Given the description of an element on the screen output the (x, y) to click on. 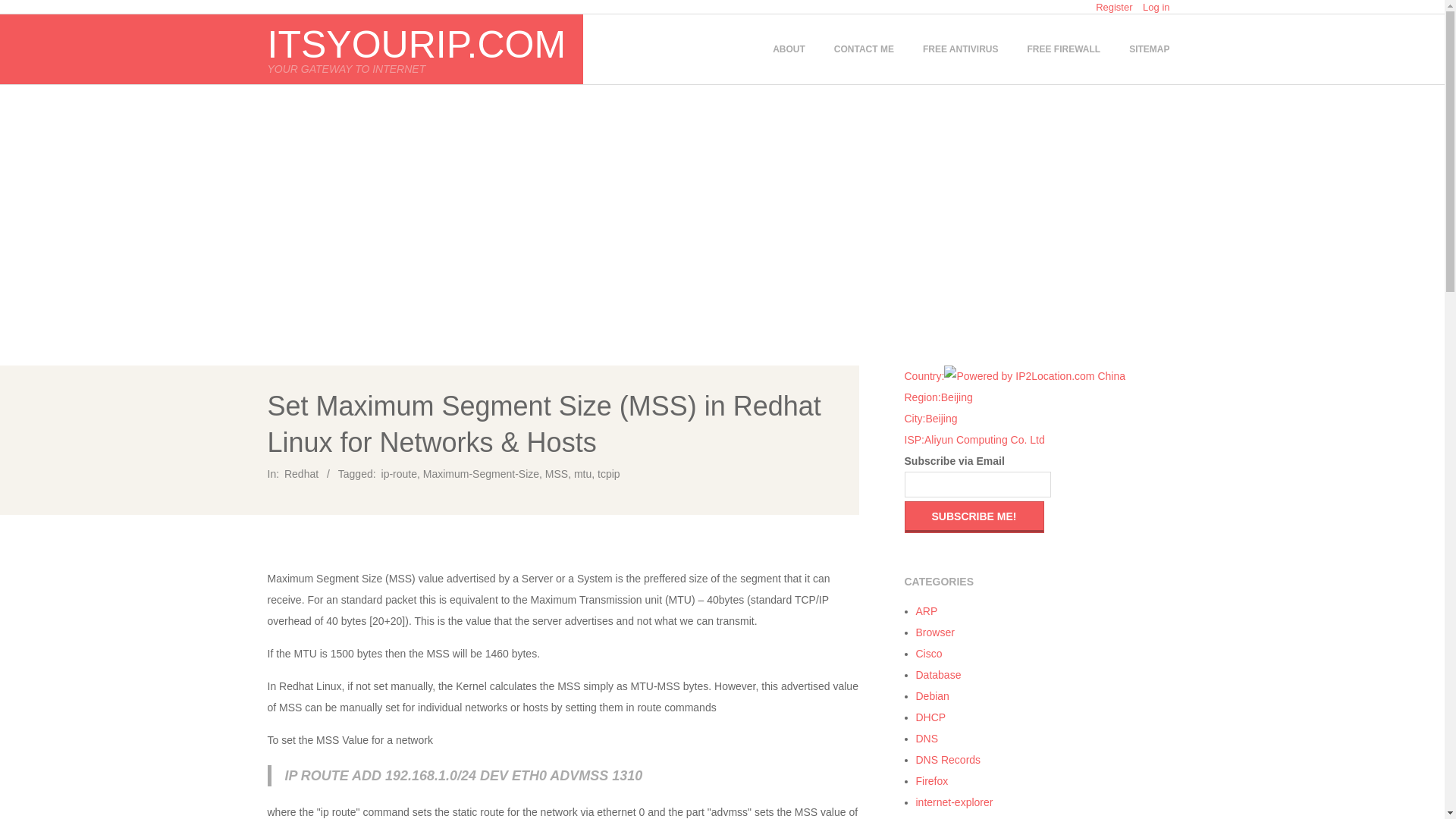
Subscribe me! (973, 517)
FREE FIREWALL (1063, 49)
Subscribe me! (973, 517)
mtu (582, 473)
Database (937, 674)
ABOUT (788, 49)
CONTACT ME (864, 49)
FREE ANTIVIRUS (960, 49)
SITEMAP (903, 49)
Browser (1148, 49)
Firefox (935, 632)
DHCP (932, 780)
ITSYOURIP.COM (930, 717)
